Given the description of an element on the screen output the (x, y) to click on. 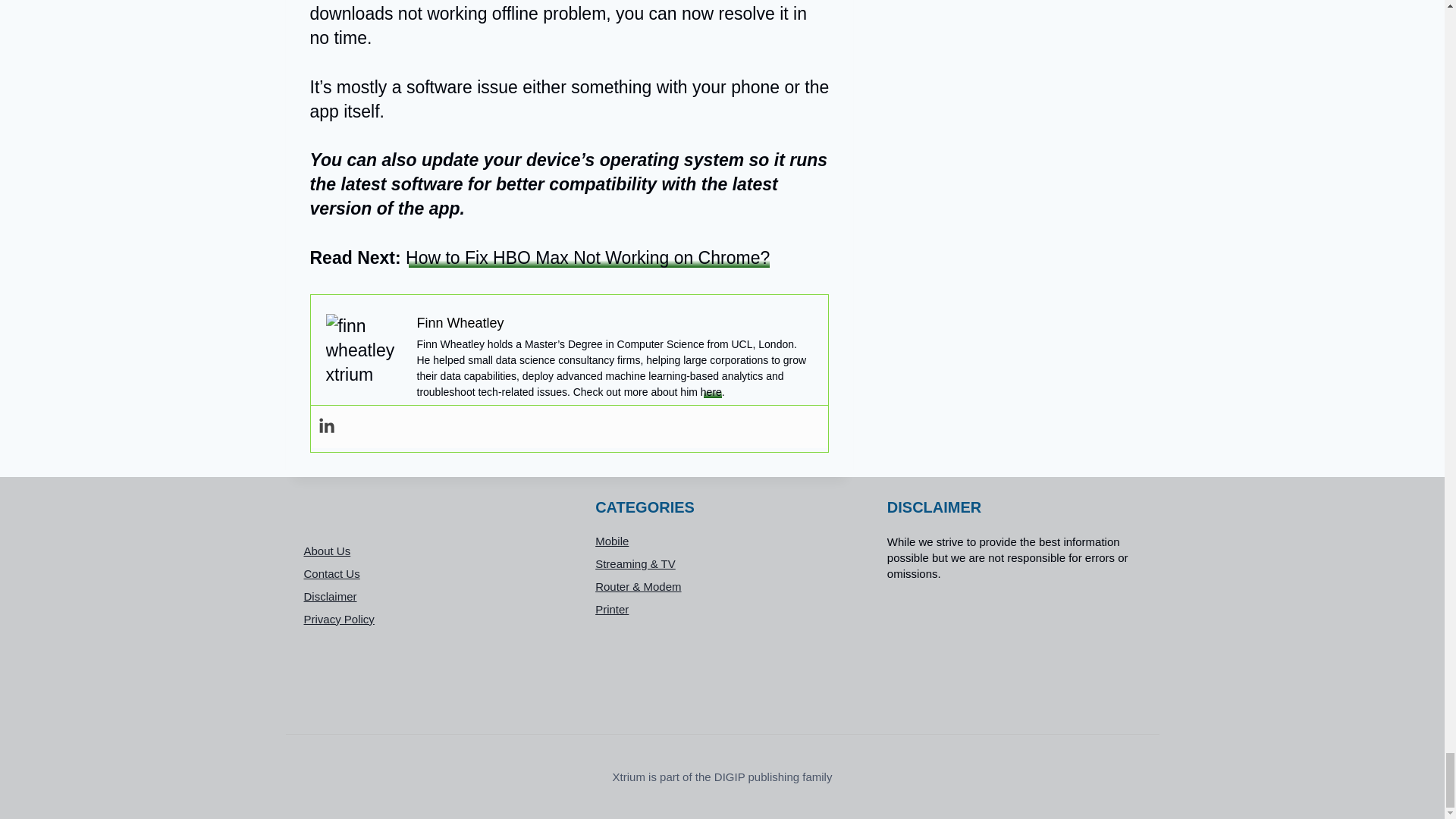
Disclaimer (429, 595)
How to Fix HBO Max Not Working on Chrome? (588, 257)
Privacy Policy (429, 618)
Mobile (721, 540)
here (711, 391)
Linkedin (326, 426)
Printer (721, 609)
HBO Max Downloads Not Working Offline? - Easy Fix 10 (363, 351)
Contact Us (429, 572)
Finn Wheatley (459, 322)
About Us (429, 549)
